Given the description of an element on the screen output the (x, y) to click on. 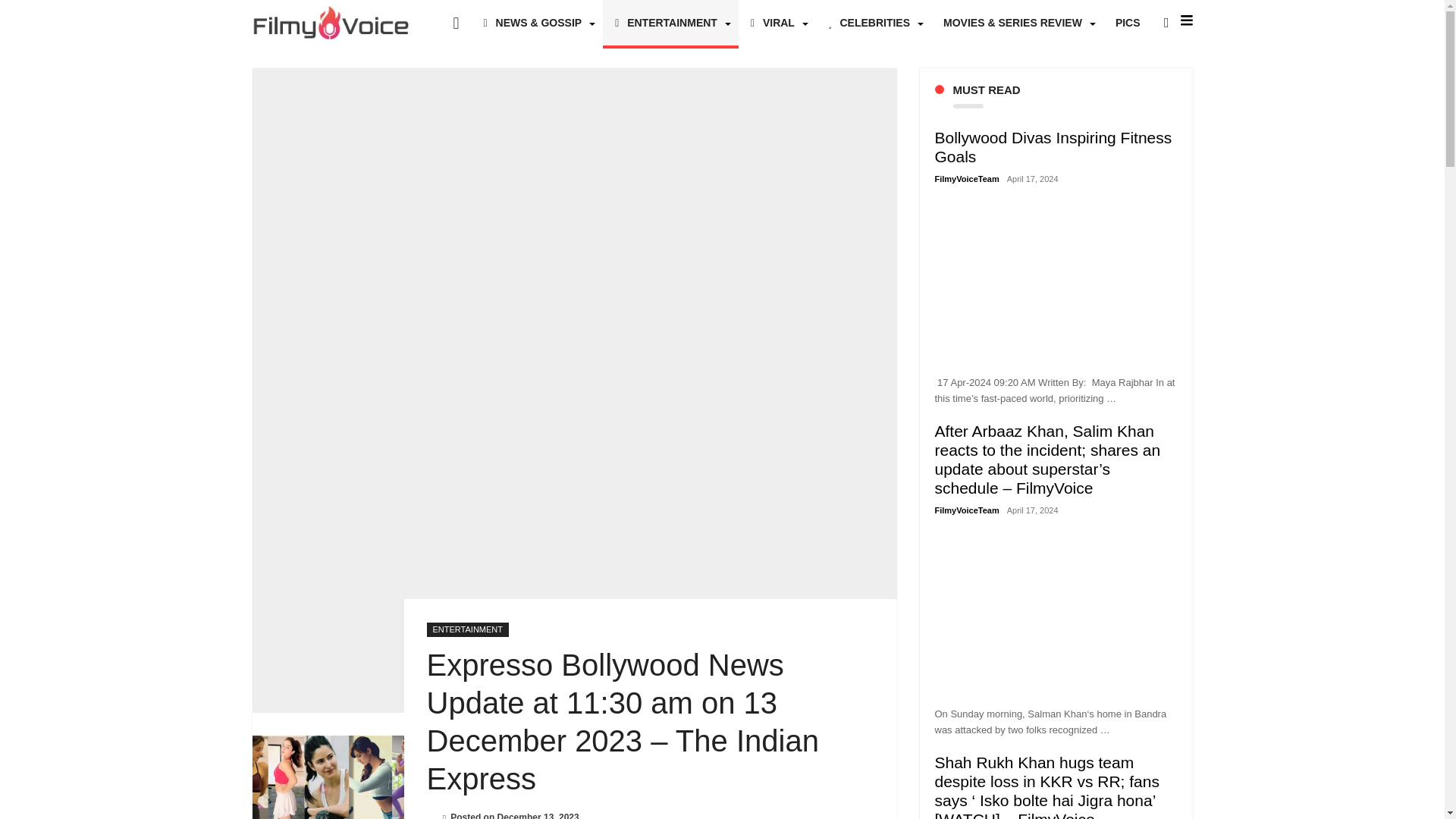
CELEBRITIES (873, 22)
ENTERTAINMENT (670, 22)
VIRAL (776, 22)
